Given the description of an element on the screen output the (x, y) to click on. 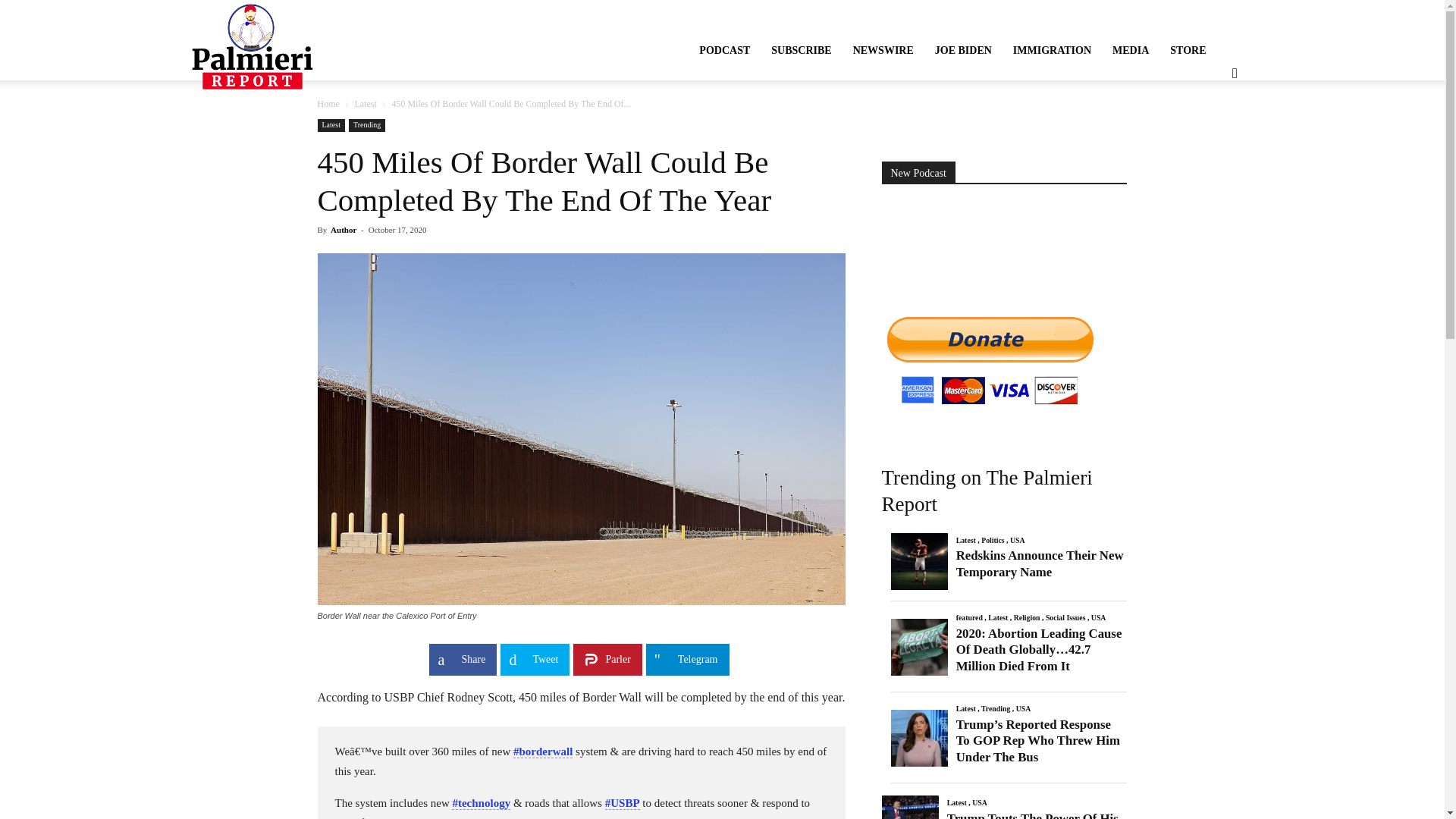
Share on Telegram (687, 659)
MEDIA (1130, 50)
Tweet (534, 659)
SUBSCRIBE (800, 50)
Latest (364, 103)
Share on Parler (607, 659)
NEWSWIRE (883, 50)
ThePalmieriReport (251, 46)
Share on Tweet (534, 659)
PODCAST (724, 50)
Share (462, 659)
View all posts in Latest (364, 103)
JOE BIDEN (963, 50)
IMMIGRATION (1052, 50)
STORE (1186, 50)
